Given the description of an element on the screen output the (x, y) to click on. 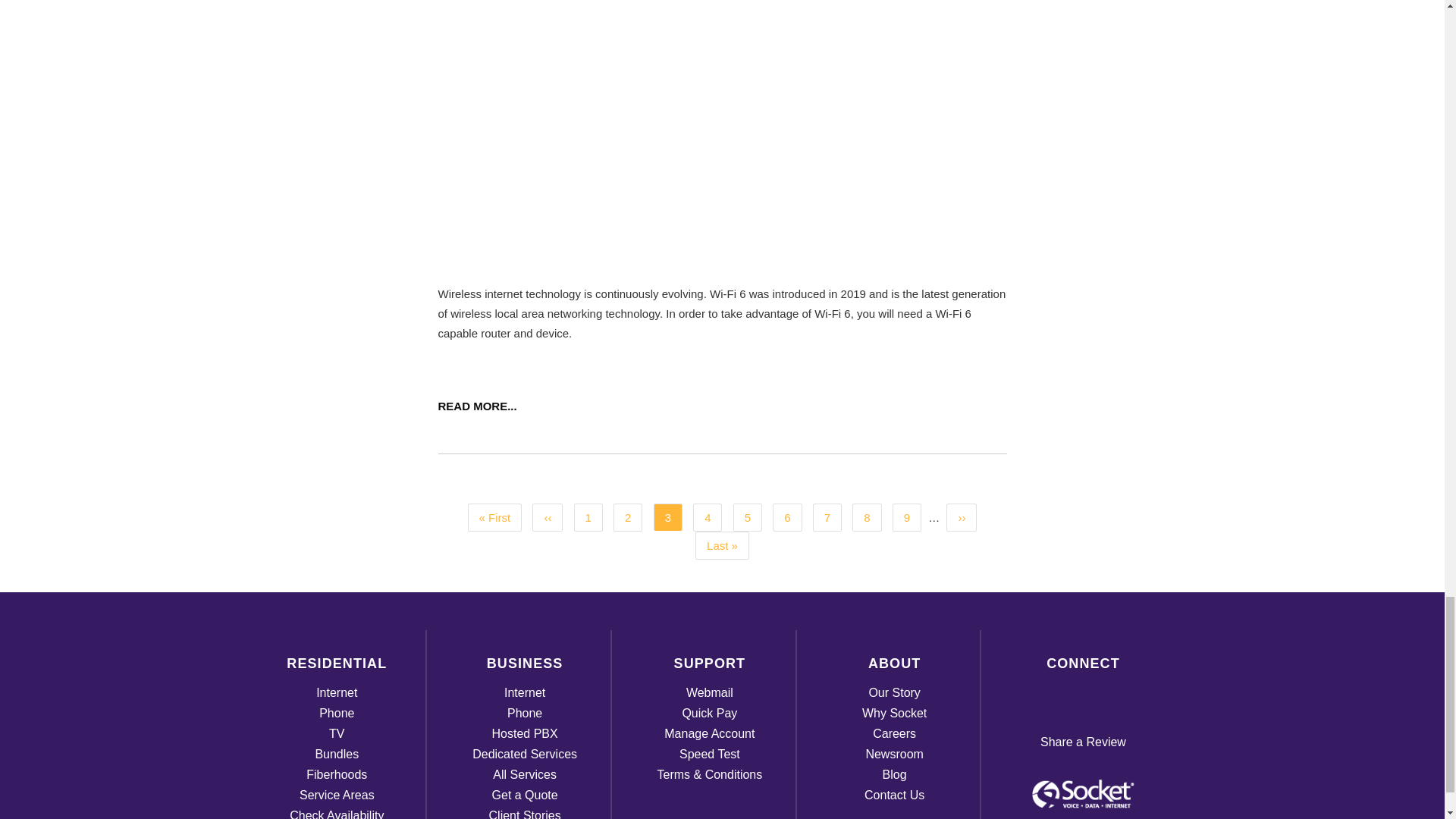
Go to page 2 (627, 517)
Go to page 4 (707, 517)
Go to page 7 (826, 517)
Current page (667, 516)
Go to page 8 (865, 517)
Go to first page (494, 517)
Go to next page (961, 517)
Go to previous page (547, 517)
Go to page 6 (787, 517)
Go to page 9 (906, 517)
